Given the description of an element on the screen output the (x, y) to click on. 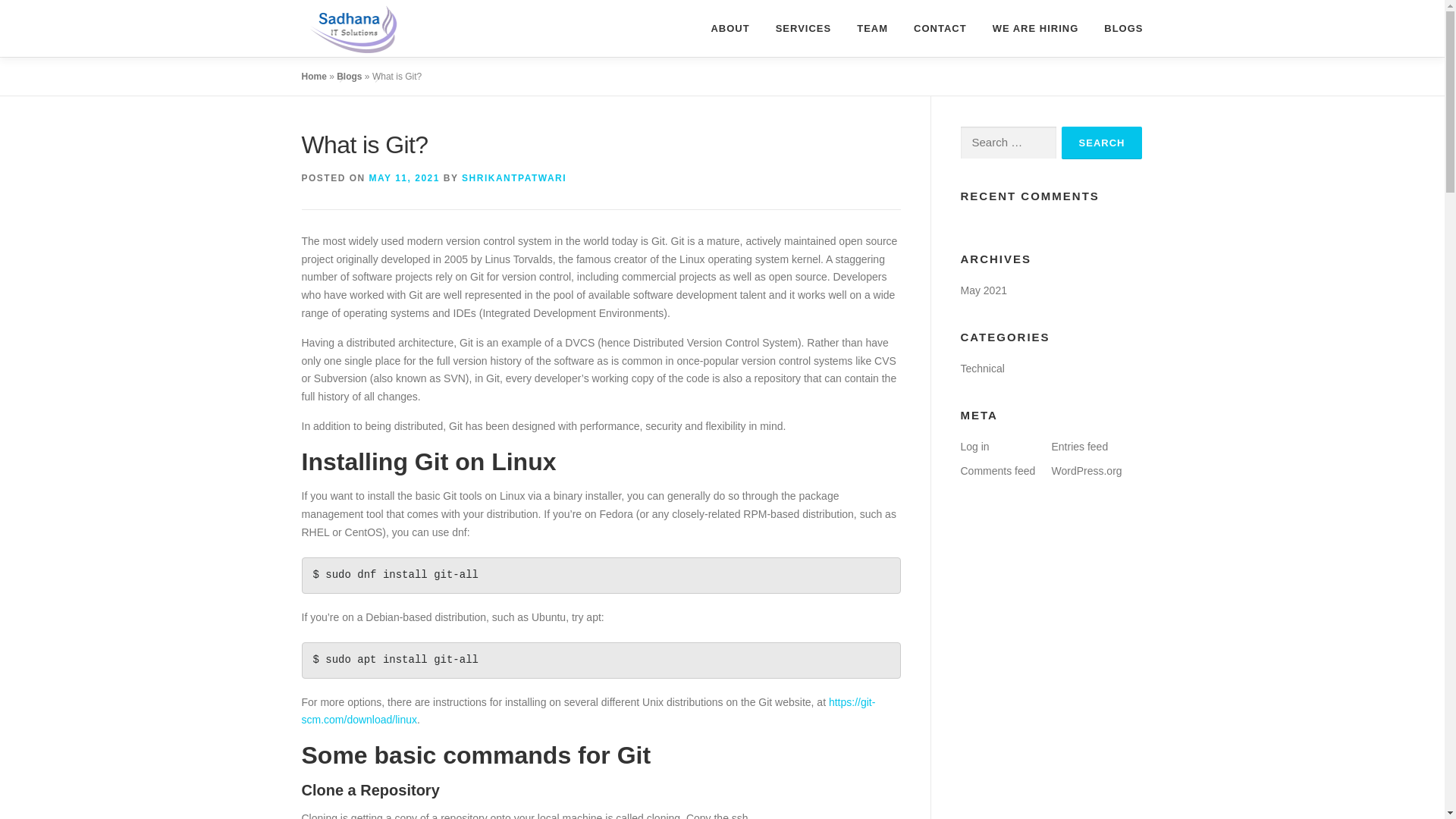
SERVICES (803, 28)
WordPress.org (1086, 470)
May 2021 (982, 290)
Technical (981, 368)
Search (1101, 142)
SHRIKANTPATWARI (513, 177)
TEAM (872, 28)
MAY 11, 2021 (404, 177)
WE ARE HIRING (1035, 28)
Entries feed (1079, 446)
BLOGS (1116, 28)
ABOUT (729, 28)
Search (1101, 142)
CONTACT (940, 28)
Home (313, 76)
